Given the description of an element on the screen output the (x, y) to click on. 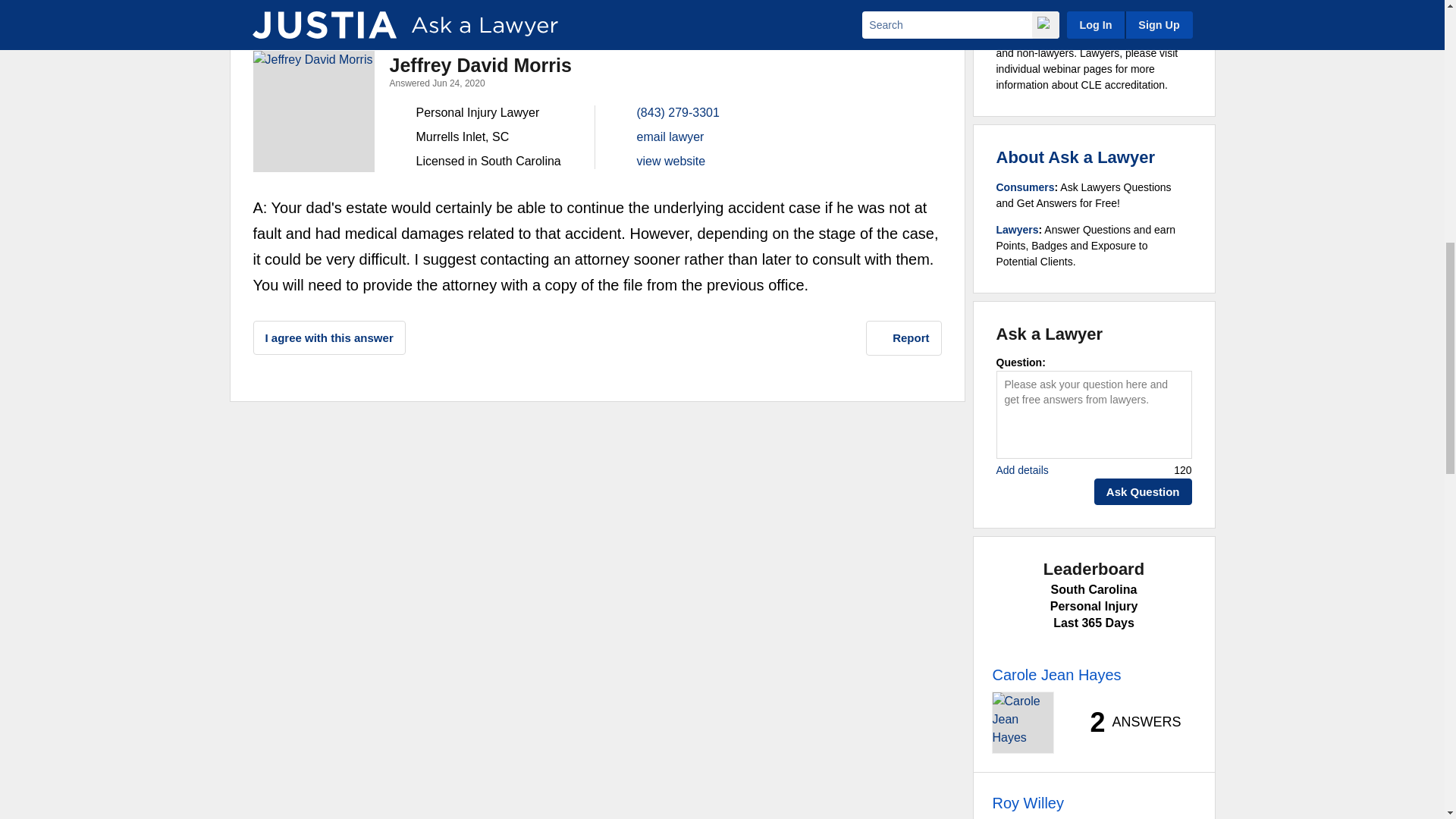
Ask a Lawyer - FAQs - Consumers (1024, 186)
Ask a Lawyer - Leaderboard - Lawyer Name (1026, 802)
Ask a Lawyer - FAQs - Lawyers (1017, 229)
Ask a Lawyer - Leaderboard - Lawyer Stats (1127, 722)
Ask a Lawyer - Leaderboard - Lawyer Name (1056, 674)
Ask a Lawyer - Leaderboard - Lawyer Photo (1021, 722)
Jeffrey David Morris (313, 110)
